Given the description of an element on the screen output the (x, y) to click on. 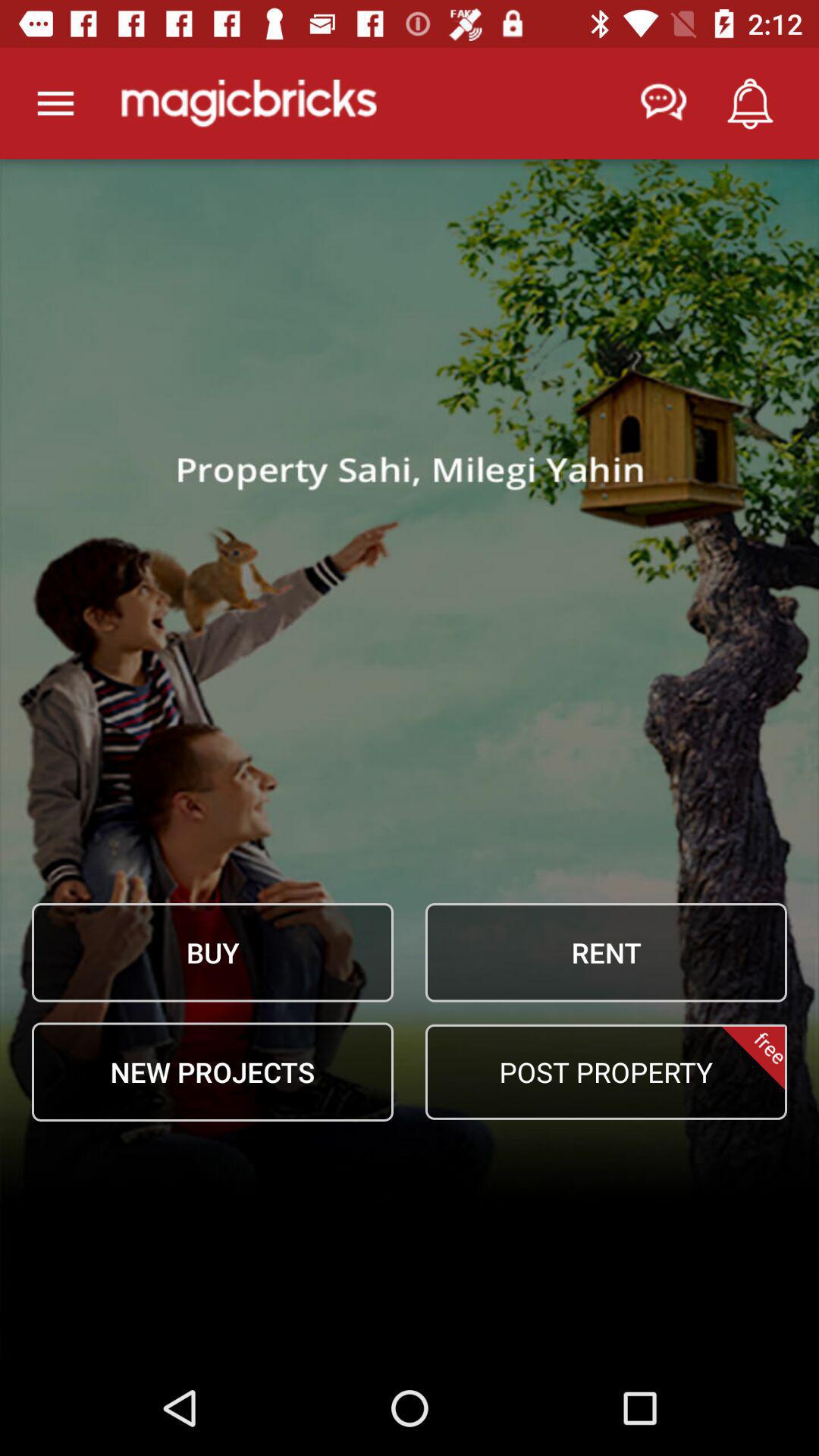
turn off item at the bottom left corner (212, 1071)
